Given the description of an element on the screen output the (x, y) to click on. 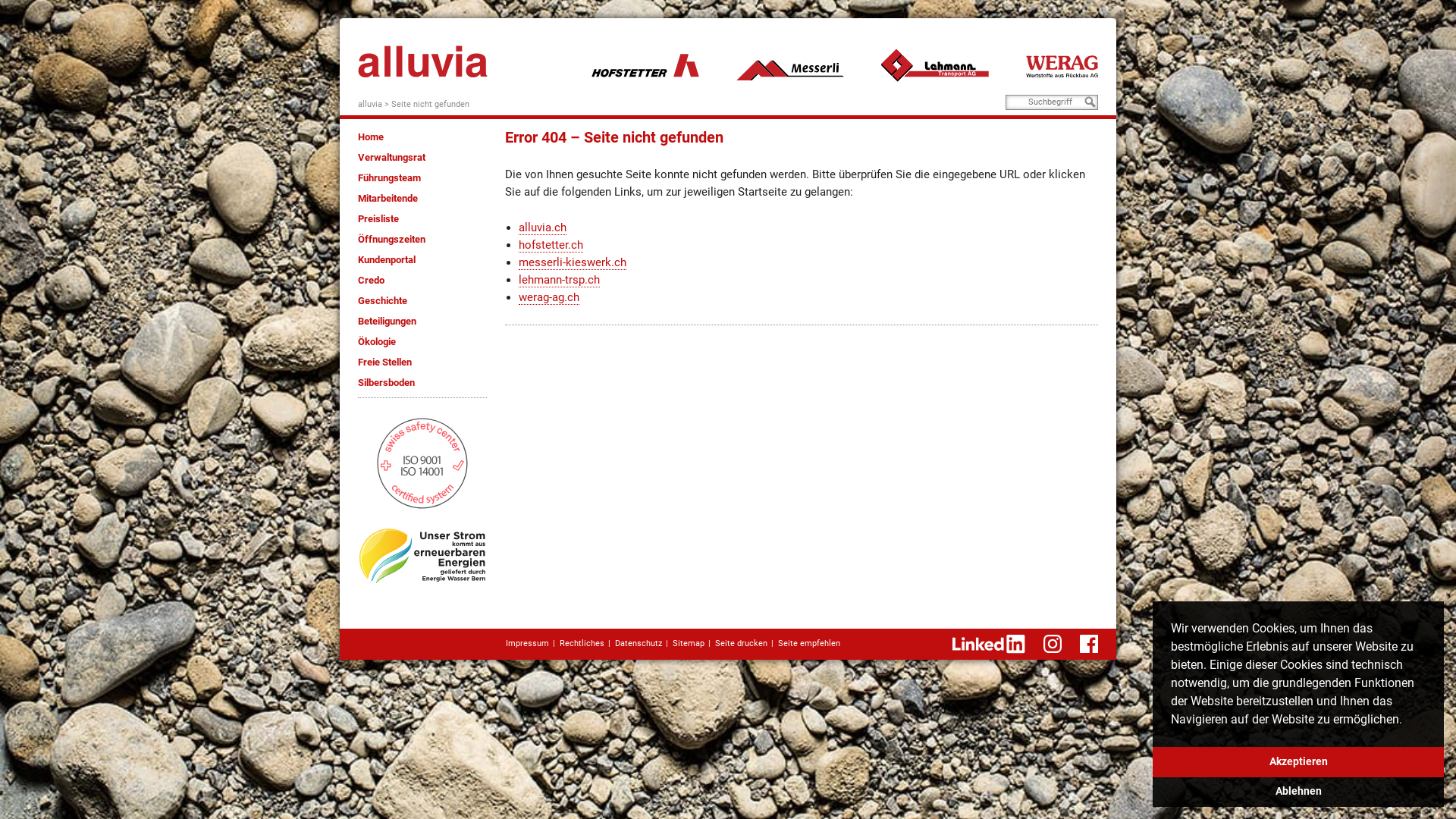
messerli-kieswerk.ch Element type: hover (790, 64)
Kundenportal Element type: text (386, 259)
Credo Element type: text (370, 279)
hofstetter.ch Element type: hover (645, 64)
hofstetter.ch Element type: text (550, 245)
Sitemap Element type: text (688, 643)
alluvia.ch Element type: text (542, 227)
  Element type: text (422, 55)
Home Element type: text (370, 136)
Impressum Element type: text (527, 643)
Freie Stellen Element type: text (384, 361)
Ablehnen Element type: text (1297, 791)
Mitarbeitende Element type: text (387, 197)
Seite nicht gefunden Element type: text (430, 104)
Preisliste Element type: text (377, 218)
werag-ag.ch Element type: hover (1062, 64)
lehmann-trsp.ch Element type: hover (934, 64)
Geschichte Element type: text (382, 300)
Beteiligungen Element type: text (386, 320)
Datenschutz Element type: text (638, 643)
Verwaltungsrat Element type: text (391, 157)
messerli-kieswerk.ch Element type: text (572, 262)
alluvia Element type: text (369, 104)
lehmann-trsp.ch Element type: text (558, 280)
Rechtliches Element type: text (581, 643)
Seite empfehlen Element type: text (809, 643)
werag-ag.ch Element type: text (548, 297)
Seite drucken Element type: text (741, 643)
Silbersboden Element type: text (385, 382)
Akzeptieren Element type: text (1297, 761)
